Given the description of an element on the screen output the (x, y) to click on. 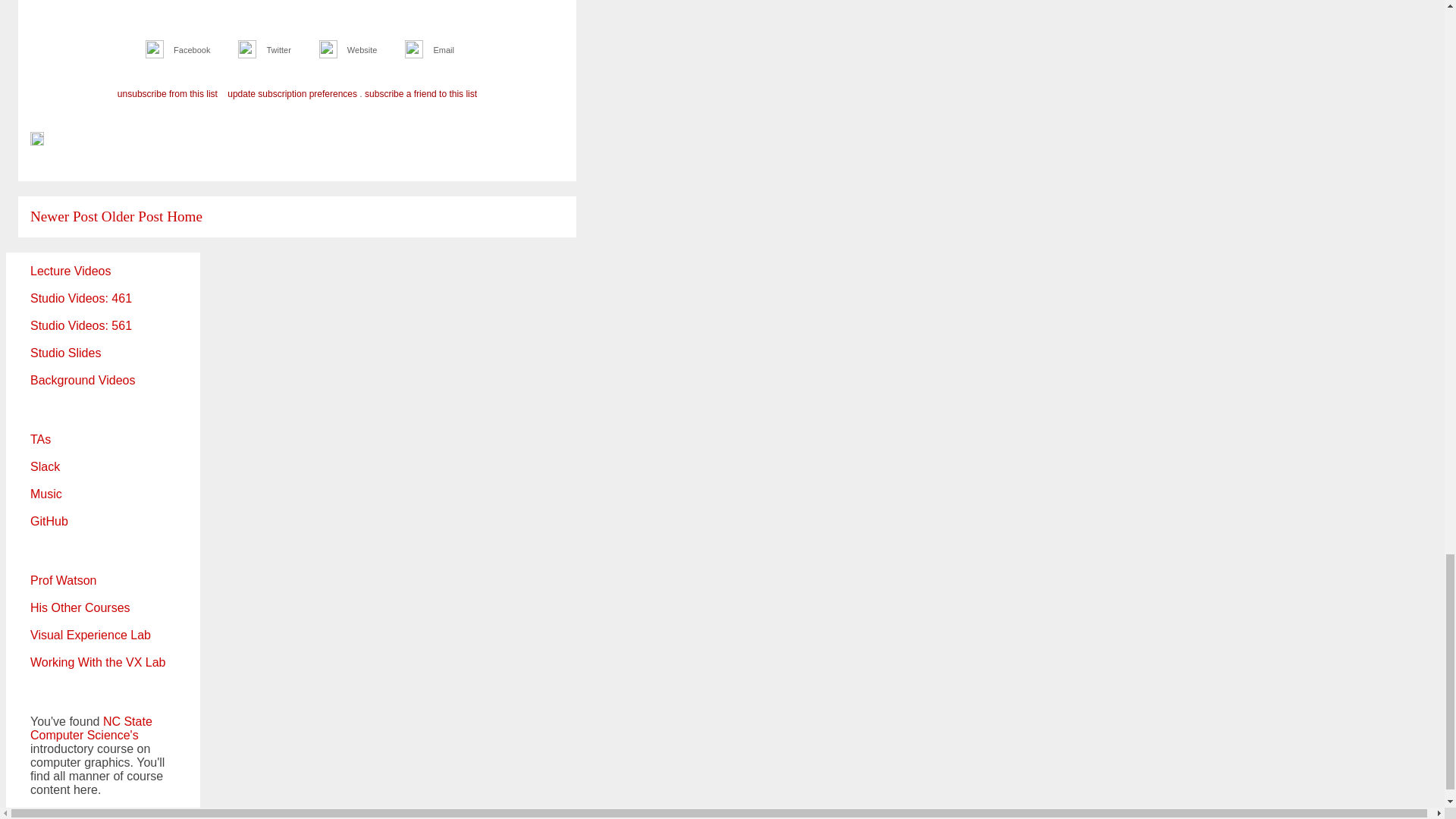
Twitter (277, 49)
Facebook (191, 49)
Website (362, 49)
Older Post (132, 216)
Edit Post (36, 141)
Email (443, 49)
Newer Post (63, 216)
